Given the description of an element on the screen output the (x, y) to click on. 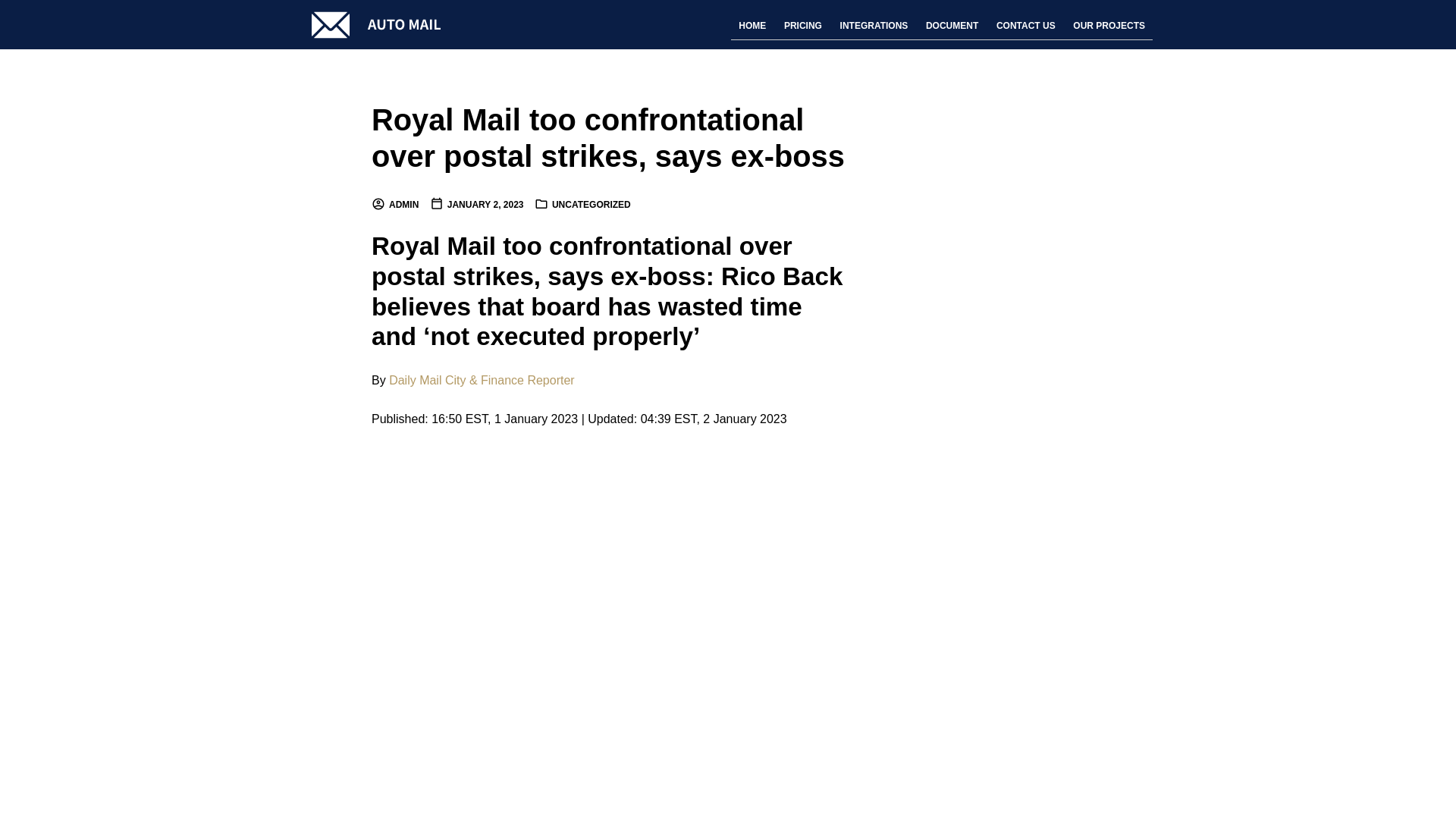
OUR PROJECTS (1109, 26)
View all posts by admin (395, 204)
DOCUMENT (951, 26)
CONTACT US (1025, 26)
JANUARY 2, 2023 (476, 204)
INTEGRATIONS (873, 26)
3:51 pm (476, 204)
HOME (751, 26)
ADMIN (395, 204)
UNCATEGORIZED (590, 204)
PRICING (802, 26)
